Given the description of an element on the screen output the (x, y) to click on. 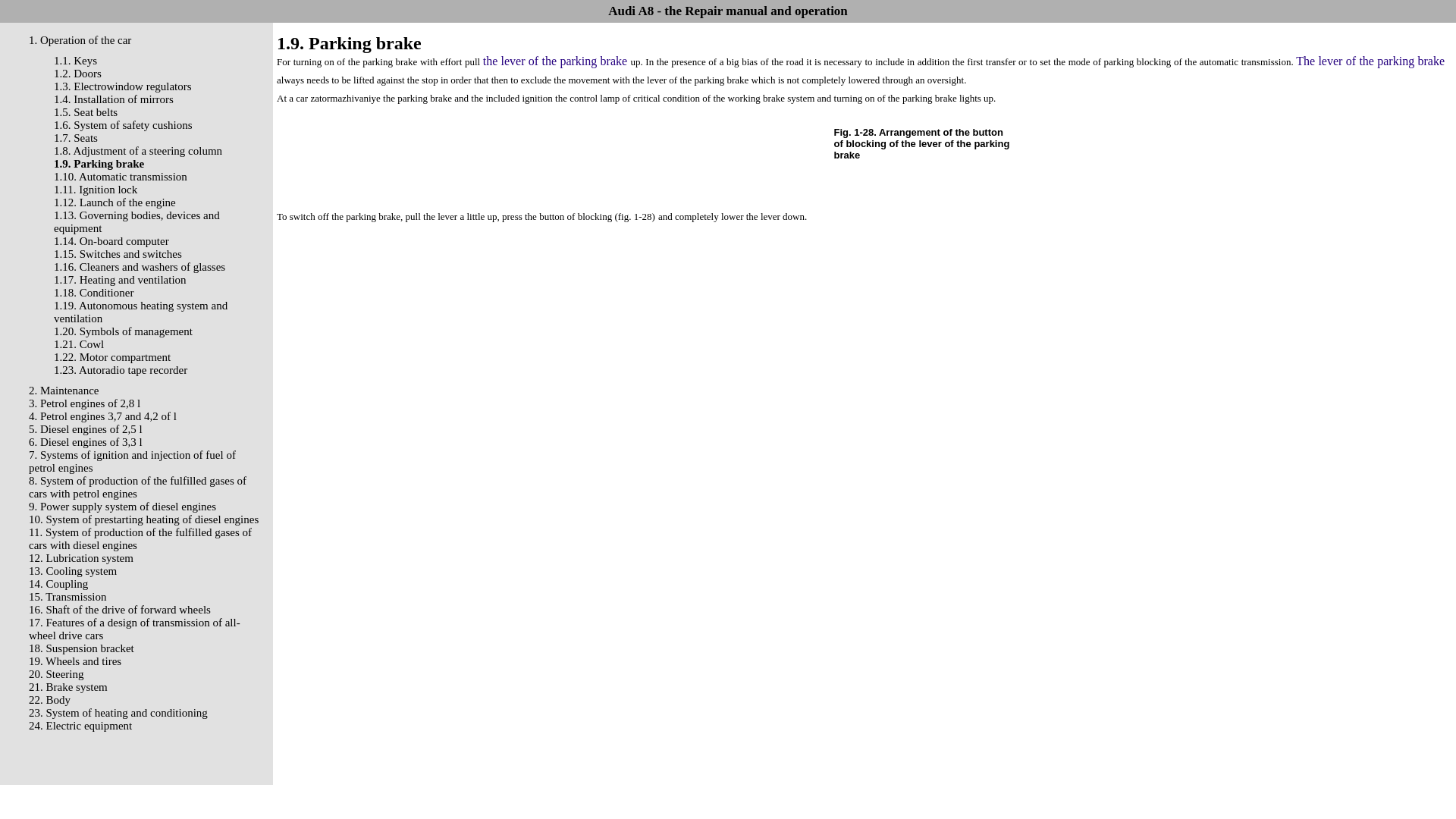
13. Cooling system (72, 571)
14. Coupling (58, 583)
1.1. Keys (75, 60)
1.21. Cowl (78, 344)
1.23. Autoradio tape recorder (120, 369)
1.5. Seat belts (85, 111)
1.17. Heating and ventilation (119, 279)
1.20. Symbols of management (122, 331)
16. Shaft of the drive of forward wheels (120, 609)
1.16. Cleaners and washers of glasses (139, 266)
1.14. On-board computer (110, 241)
12. Lubrication system (81, 558)
3. Petrol engines of 2,8 l (84, 403)
1.6. System of safety cushions (122, 124)
